Given the description of an element on the screen output the (x, y) to click on. 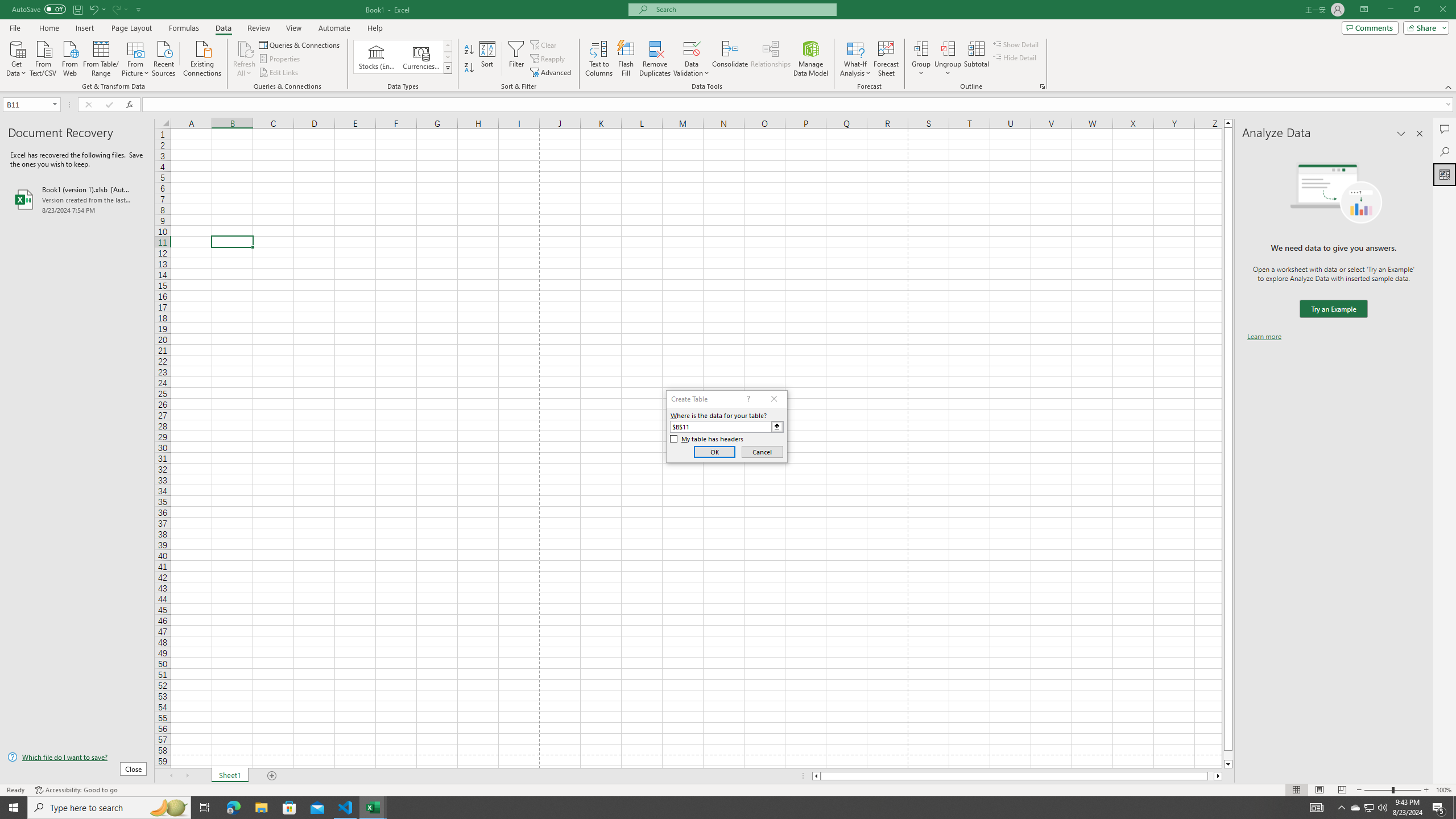
Queries & Connections (300, 44)
Edit Links (279, 72)
Data Types (448, 67)
Search (1444, 151)
Subtotal (976, 58)
Currencies (English) (420, 56)
Remove Duplicates (654, 58)
From Picture (135, 57)
Advanced... (551, 72)
